Given the description of an element on the screen output the (x, y) to click on. 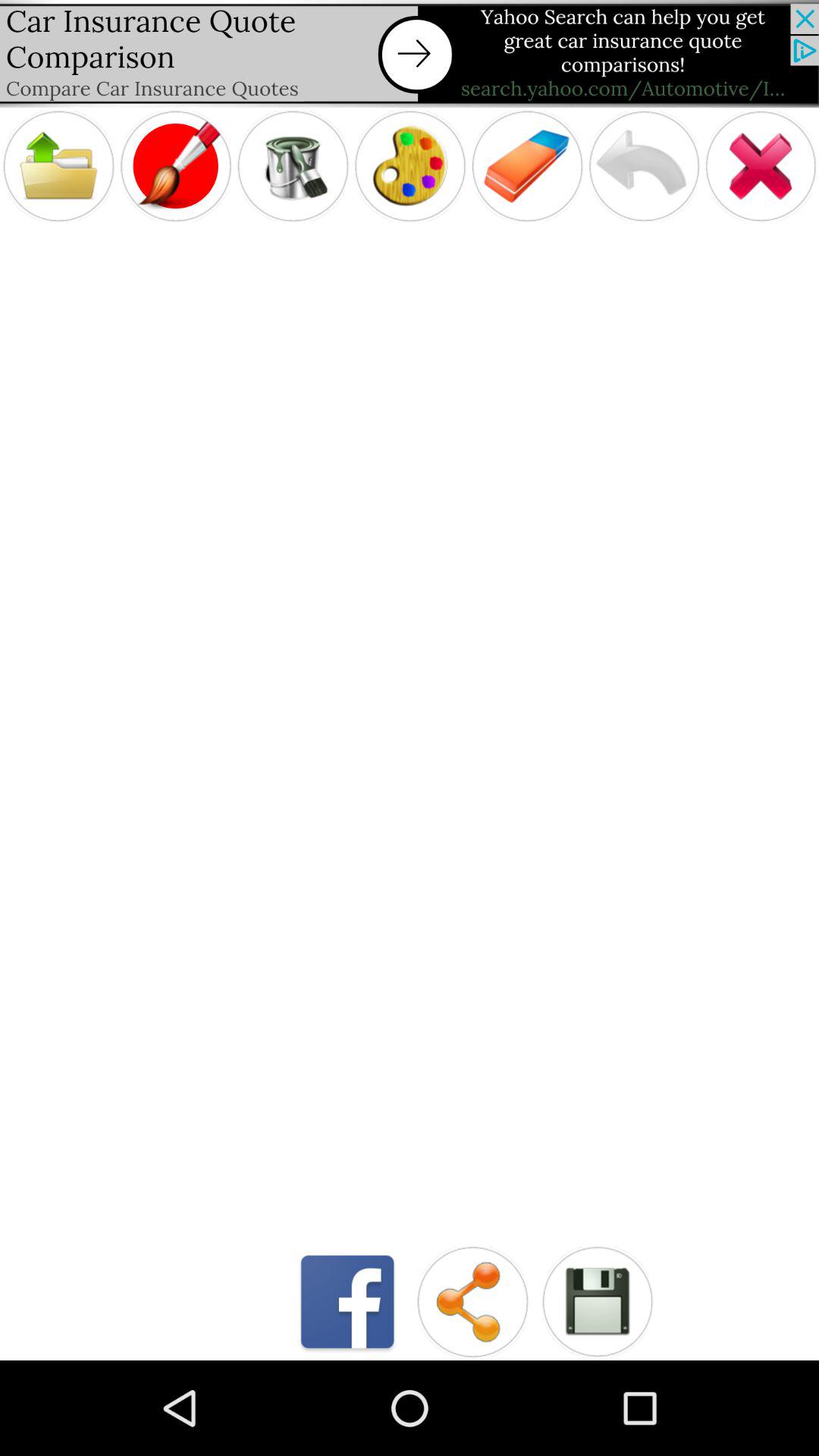
select paint color (409, 165)
